Given the description of an element on the screen output the (x, y) to click on. 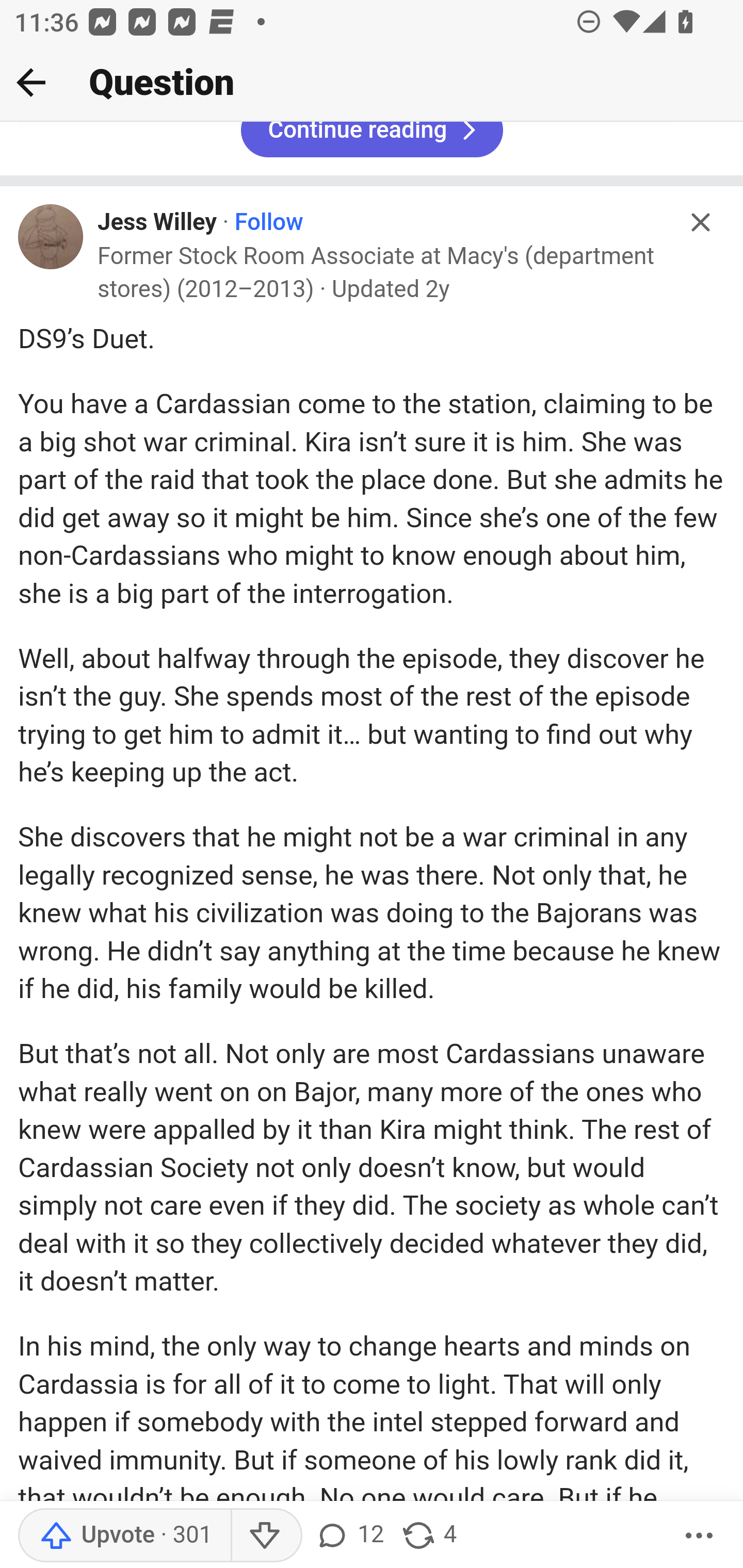
Back (30, 82)
Continue reading (371, 140)
Hide (700, 223)
Profile photo for Jess Willey (50, 236)
Jess Willey (157, 223)
Follow (267, 223)
Upvote (124, 1535)
Downvote (266, 1535)
12 comments (349, 1535)
4 shares (428, 1535)
More (699, 1535)
